Given the description of an element on the screen output the (x, y) to click on. 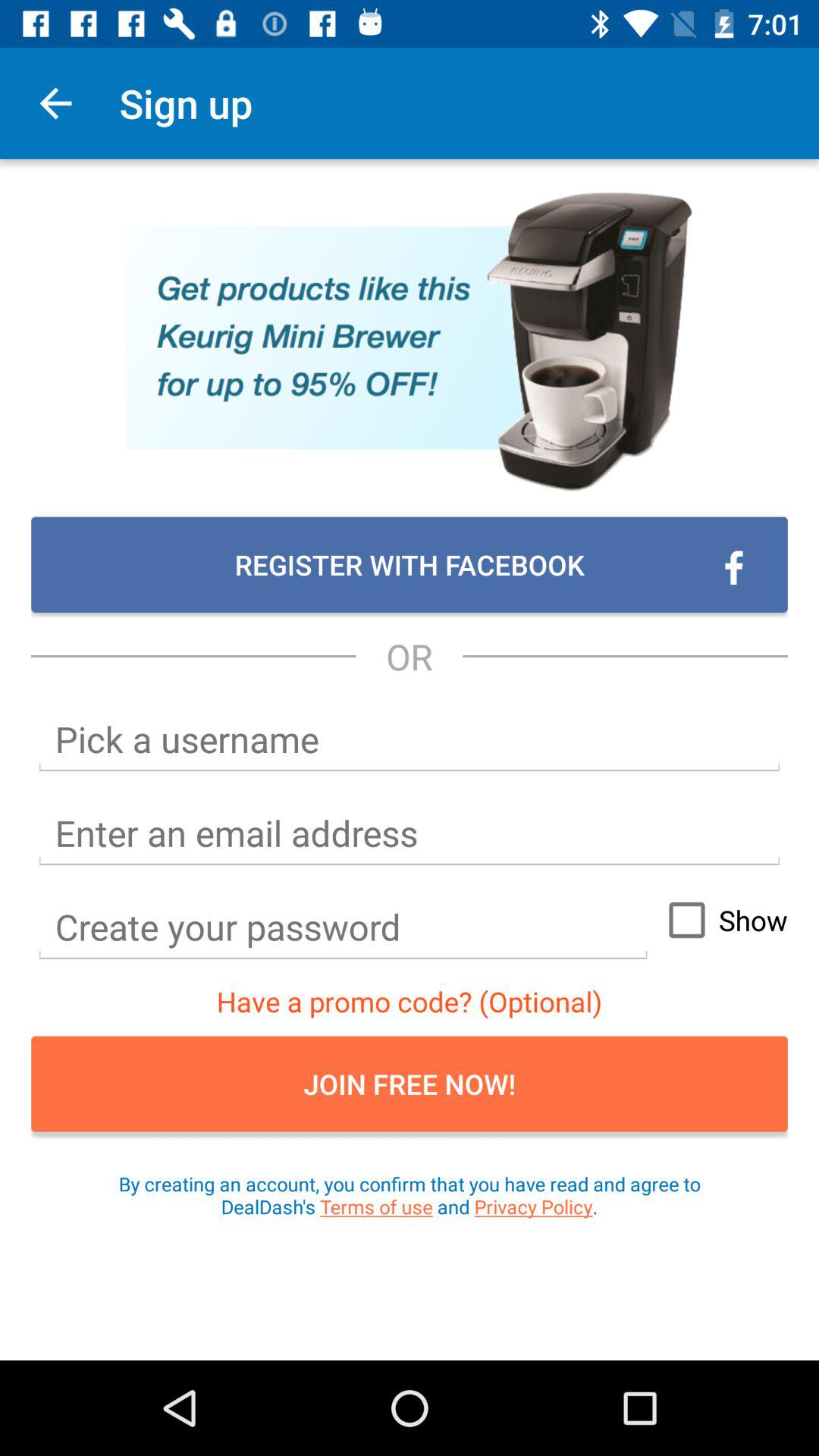
select the item below have a promo item (409, 1083)
